Given the description of an element on the screen output the (x, y) to click on. 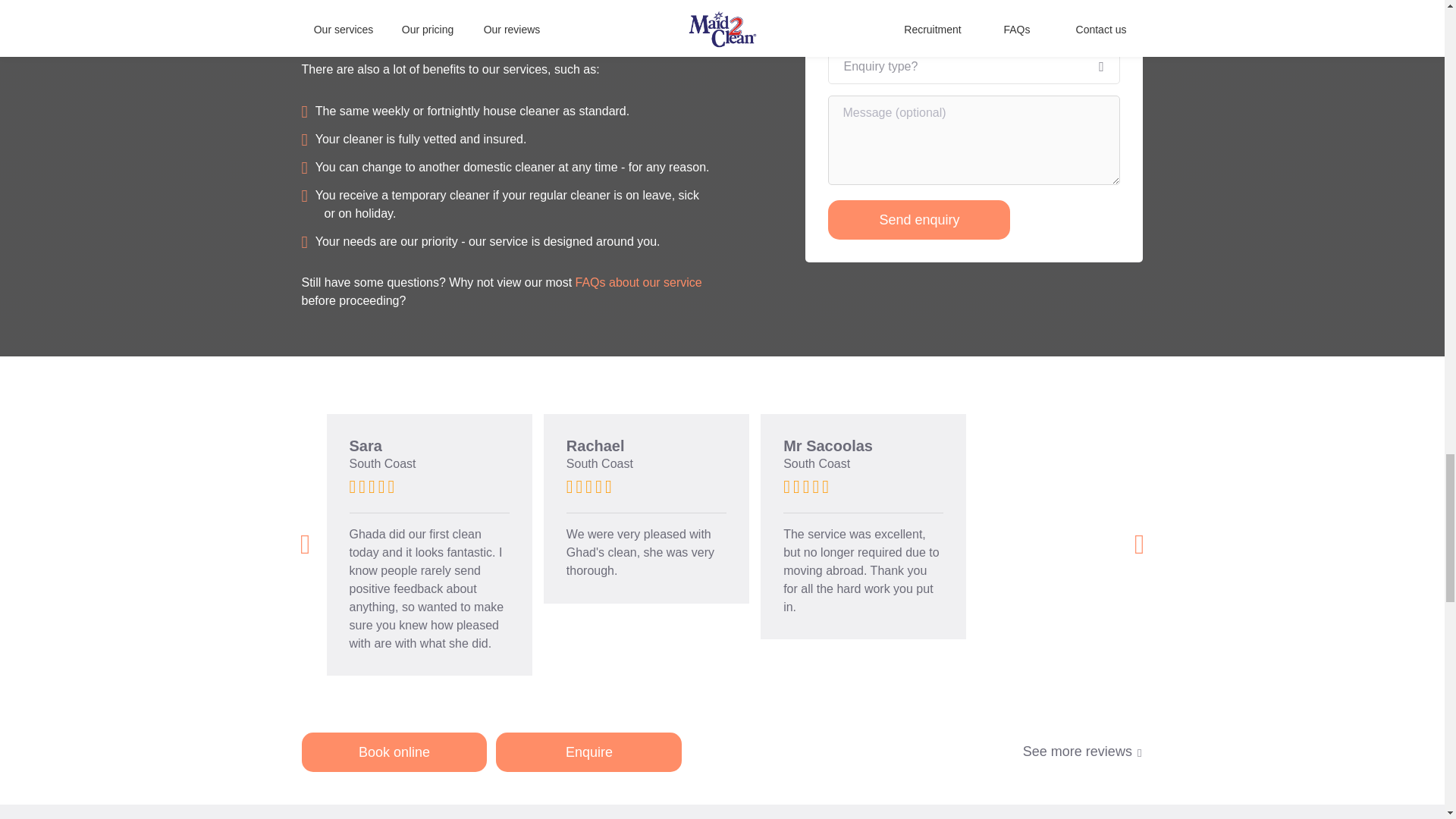
Book online (394, 752)
FAQs about our service (638, 282)
See more reviews (1082, 751)
Enquire (588, 752)
Send enquiry (919, 219)
Enquire (588, 752)
